Given the description of an element on the screen output the (x, y) to click on. 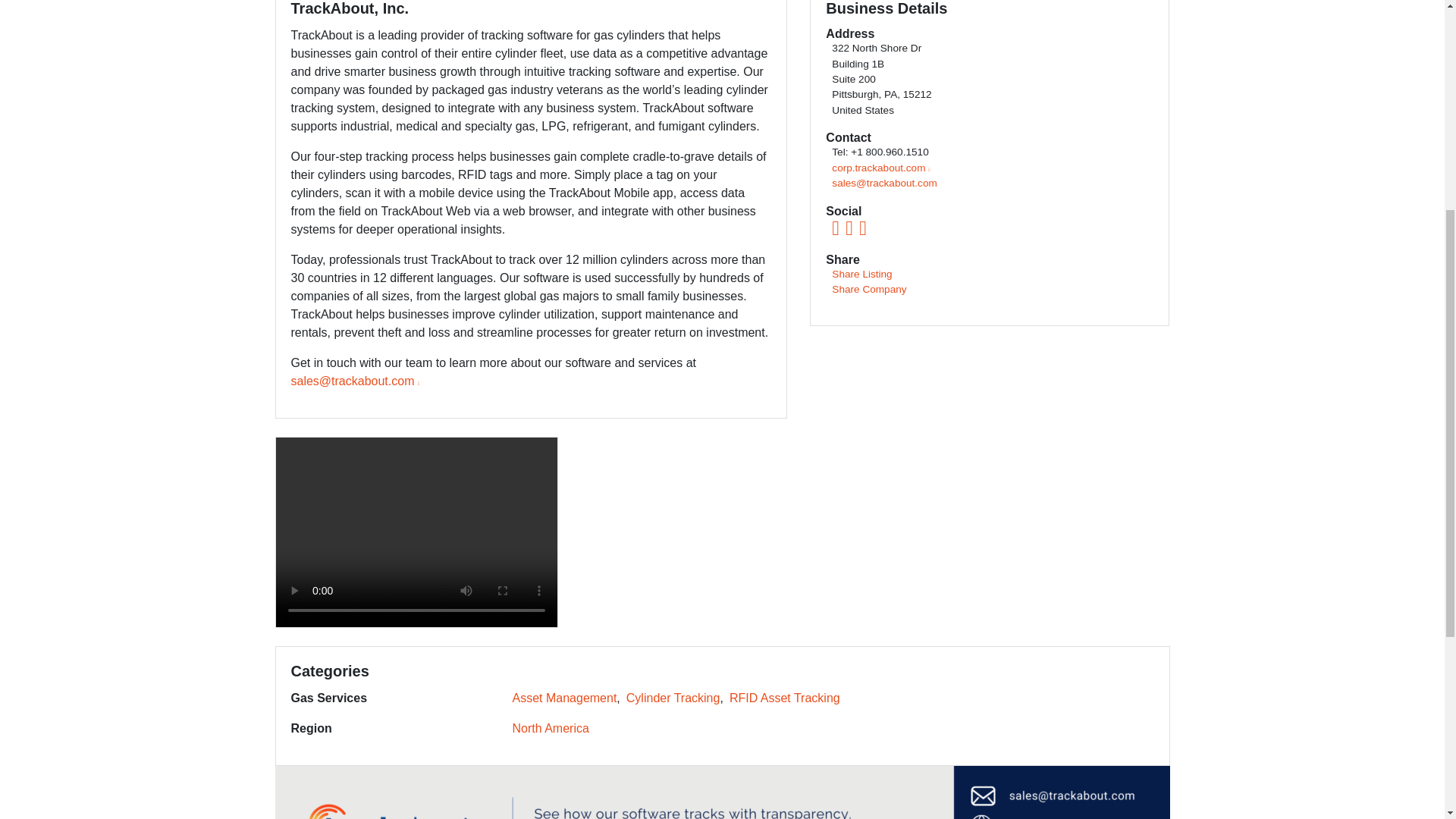
Share Listing (861, 274)
Cylinder Tracking (673, 697)
TrackAbout, Inc. on Twitter (862, 231)
TrackAbout, Inc. on Facebook (835, 231)
Asset Management (564, 697)
TrackAbout, Inc. on LinkedIn (849, 231)
Share Company (868, 288)
North America (550, 727)
corp.trackabout.com (880, 167)
Email the Recipient (883, 183)
RFID Asset Tracking (784, 697)
